Given the description of an element on the screen output the (x, y) to click on. 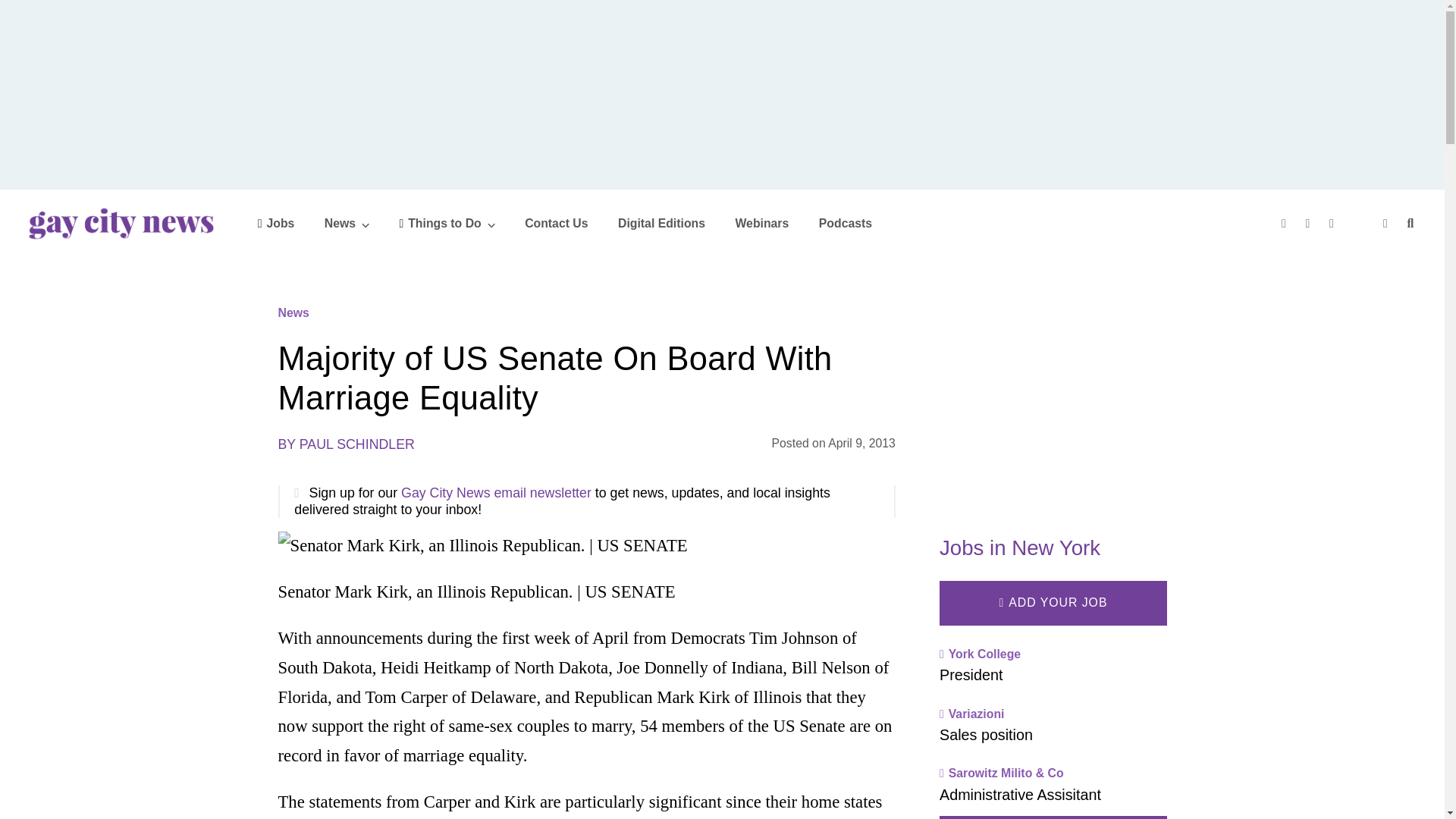
News (346, 223)
Podcasts (845, 223)
Contact Us (556, 223)
Digital Editions (660, 223)
Jobs (276, 223)
Things to Do (446, 223)
Webinars (762, 223)
